Given the description of an element on the screen output the (x, y) to click on. 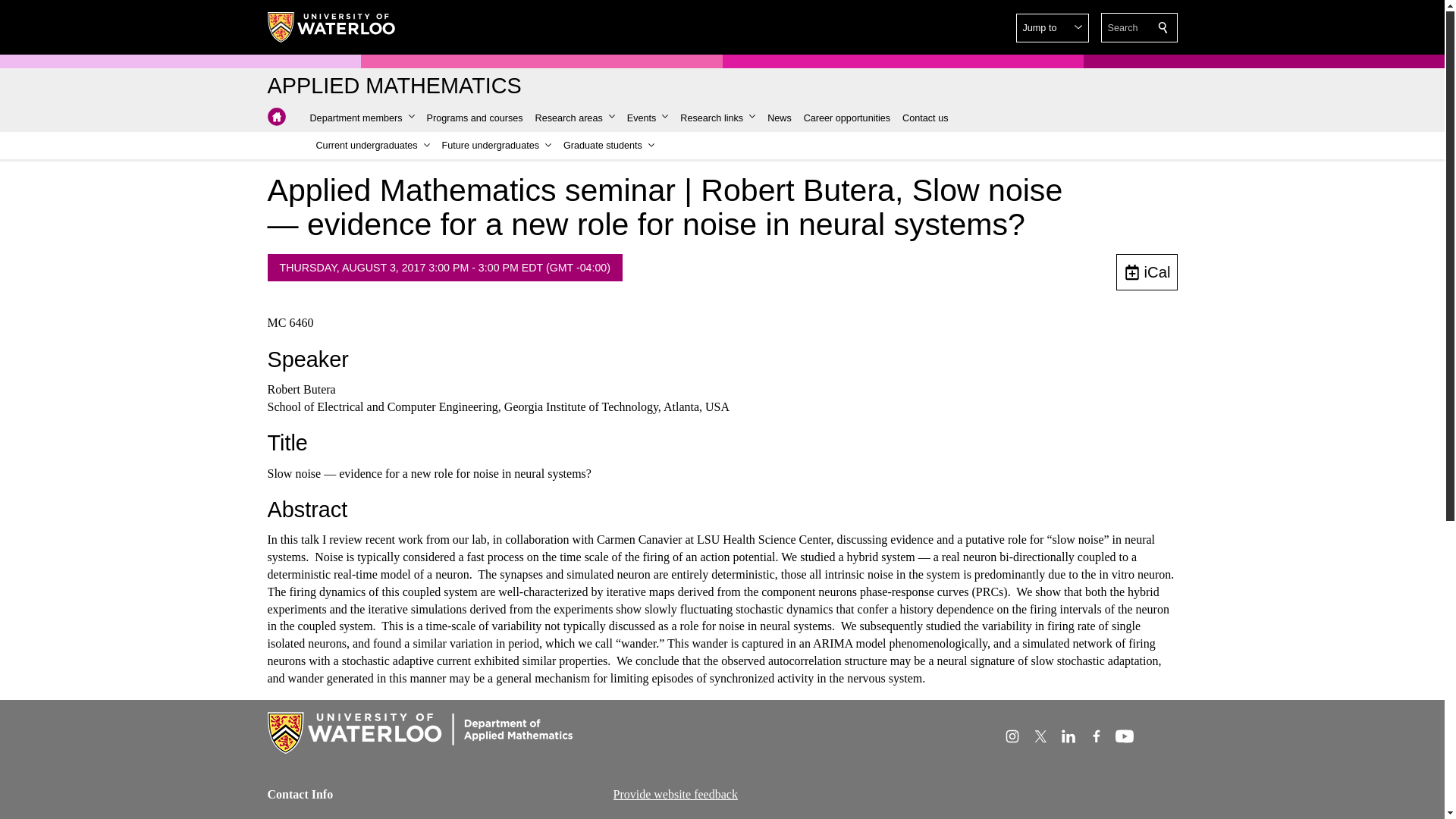
Programs and courses (474, 117)
Jump to (1051, 27)
Search (1163, 26)
Applied Mathematics Home (275, 116)
Research areas (575, 117)
Applied Mathematics Home (393, 85)
Search (1163, 26)
University of Waterloo Home (331, 27)
APPLIED MATHEMATICS (393, 85)
